Given the description of an element on the screen output the (x, y) to click on. 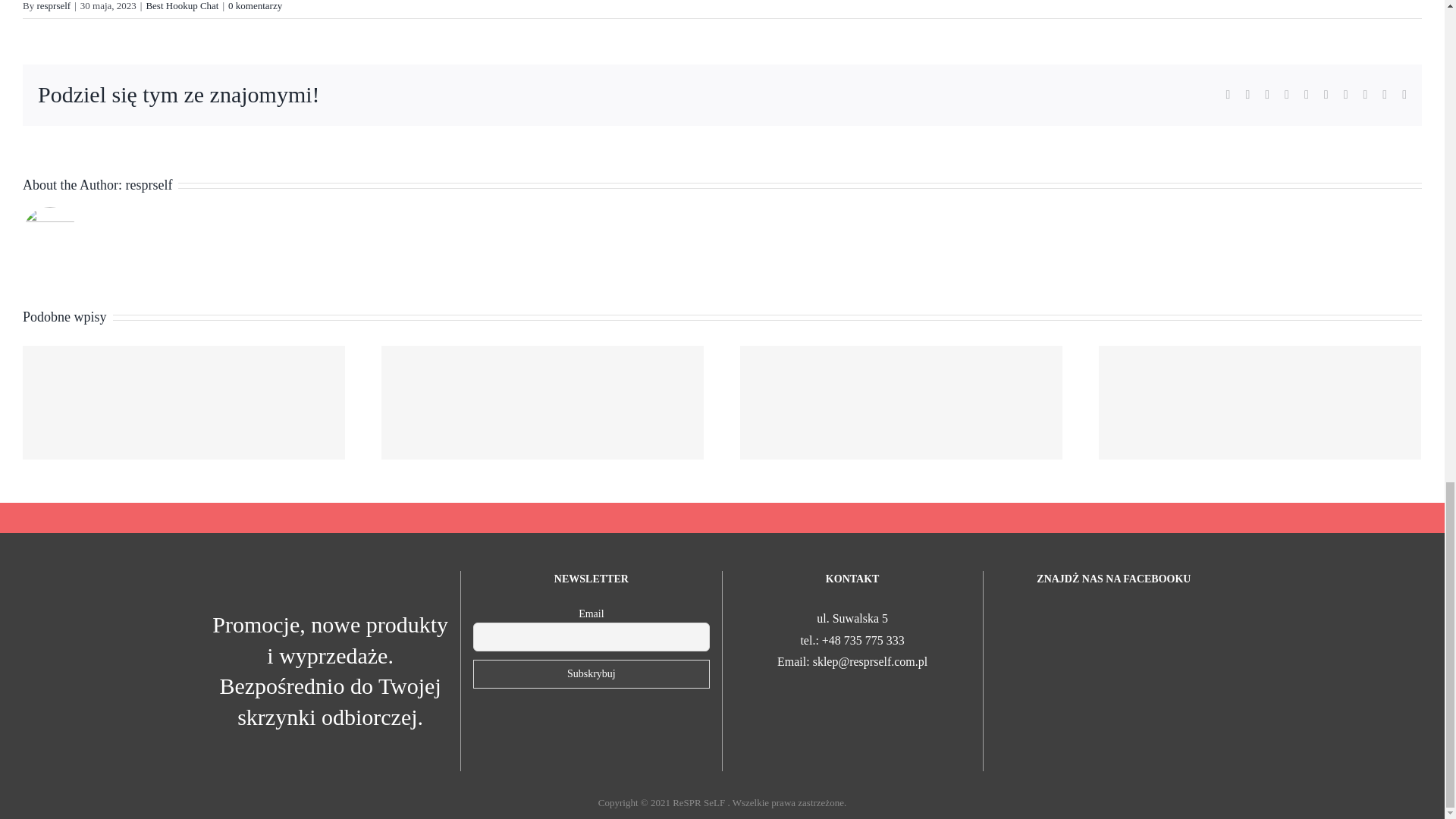
resprself (149, 184)
resprself (52, 5)
0 komentarzy (255, 5)
Best Hookup Chat (181, 5)
Subskrybuj (591, 674)
